Given the description of an element on the screen output the (x, y) to click on. 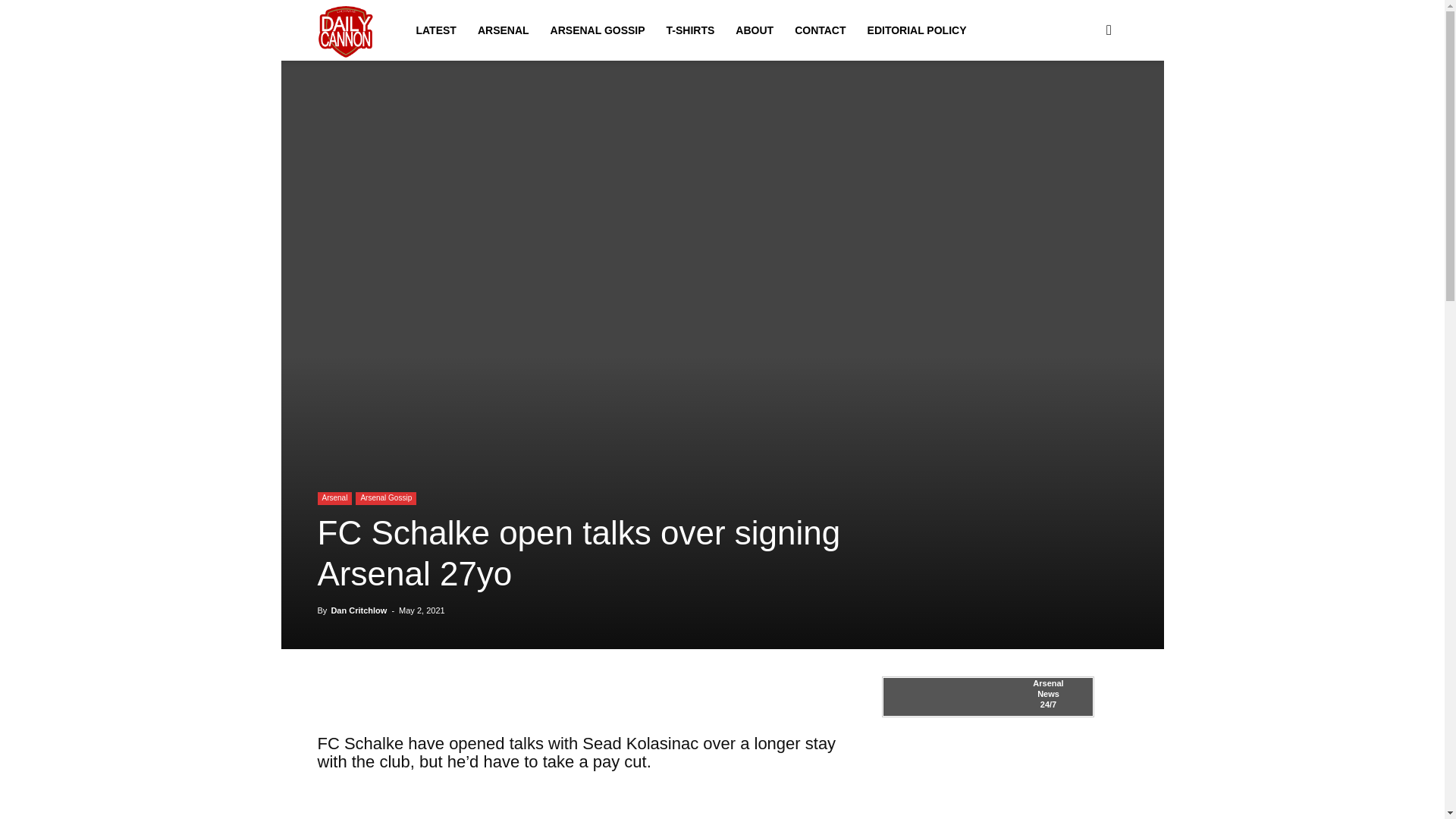
Search (1085, 102)
